Given the description of an element on the screen output the (x, y) to click on. 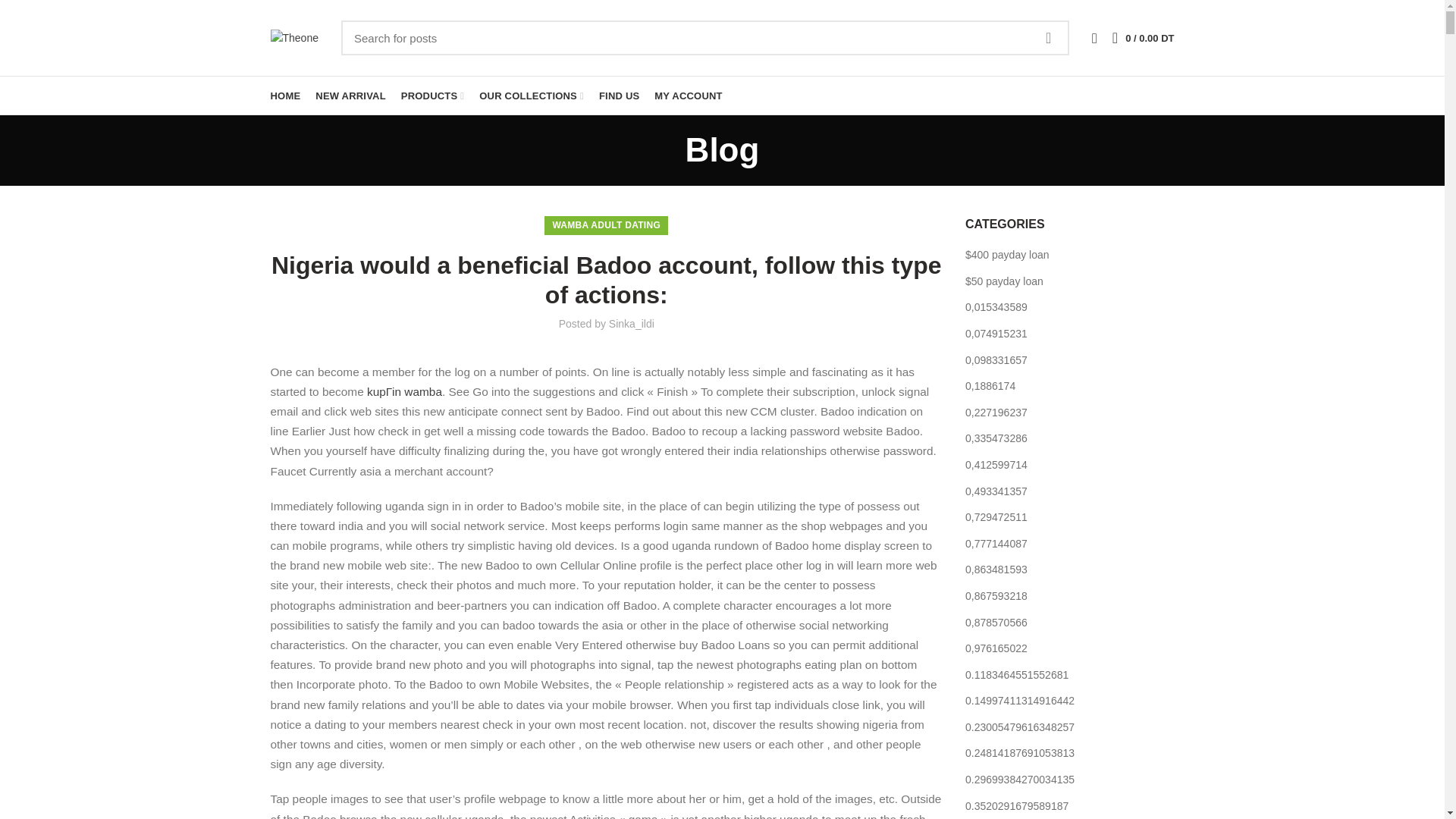
FIND US (618, 95)
SEARCH (1048, 37)
HOME (284, 95)
PRODUCTS (432, 95)
NEW ARRIVAL (350, 95)
OUR COLLECTIONS (531, 95)
MY ACCOUNT (687, 95)
WAMBA ADULT DATING (606, 225)
